Given the description of an element on the screen output the (x, y) to click on. 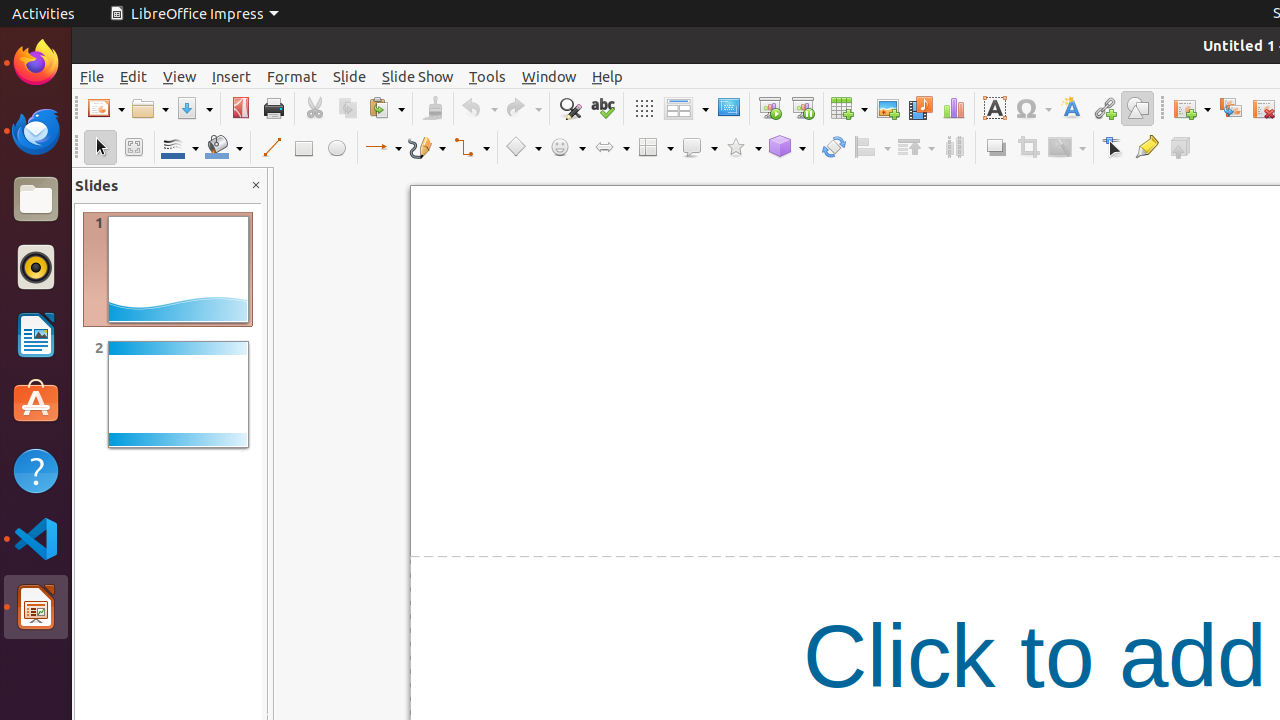
Lines and Arrows Element type: push-button (383, 147)
Line Color Element type: push-button (180, 147)
Zoom & Pan Element type: push-button (133, 147)
Connectors Element type: push-button (471, 147)
LibreOffice Impress Element type: push-button (36, 607)
